Given the description of an element on the screen output the (x, y) to click on. 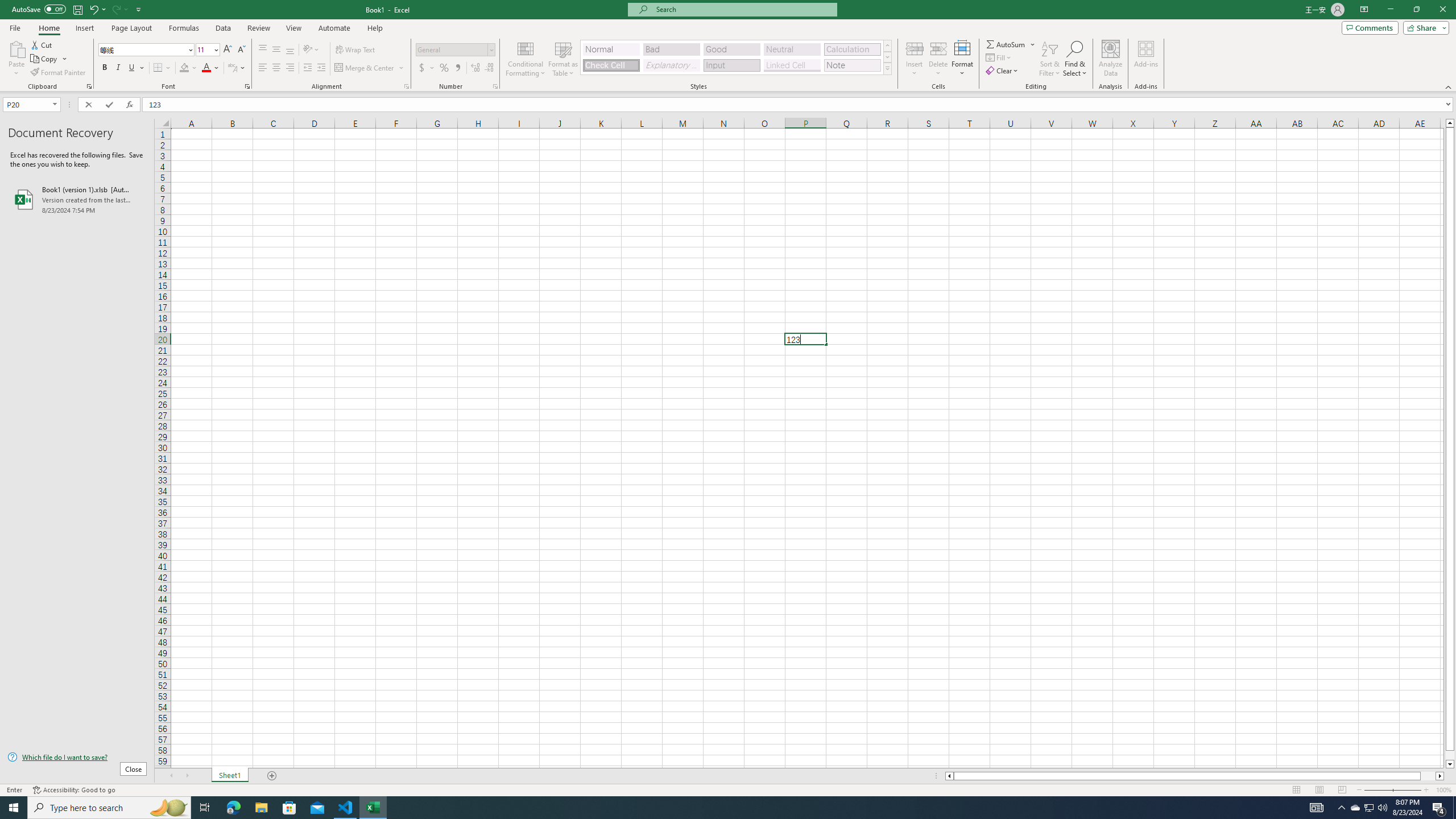
Insert Cells (914, 48)
Find & Select (1075, 58)
Top Align (262, 49)
Paste (16, 58)
Decrease Decimal (489, 67)
